Given the description of an element on the screen output the (x, y) to click on. 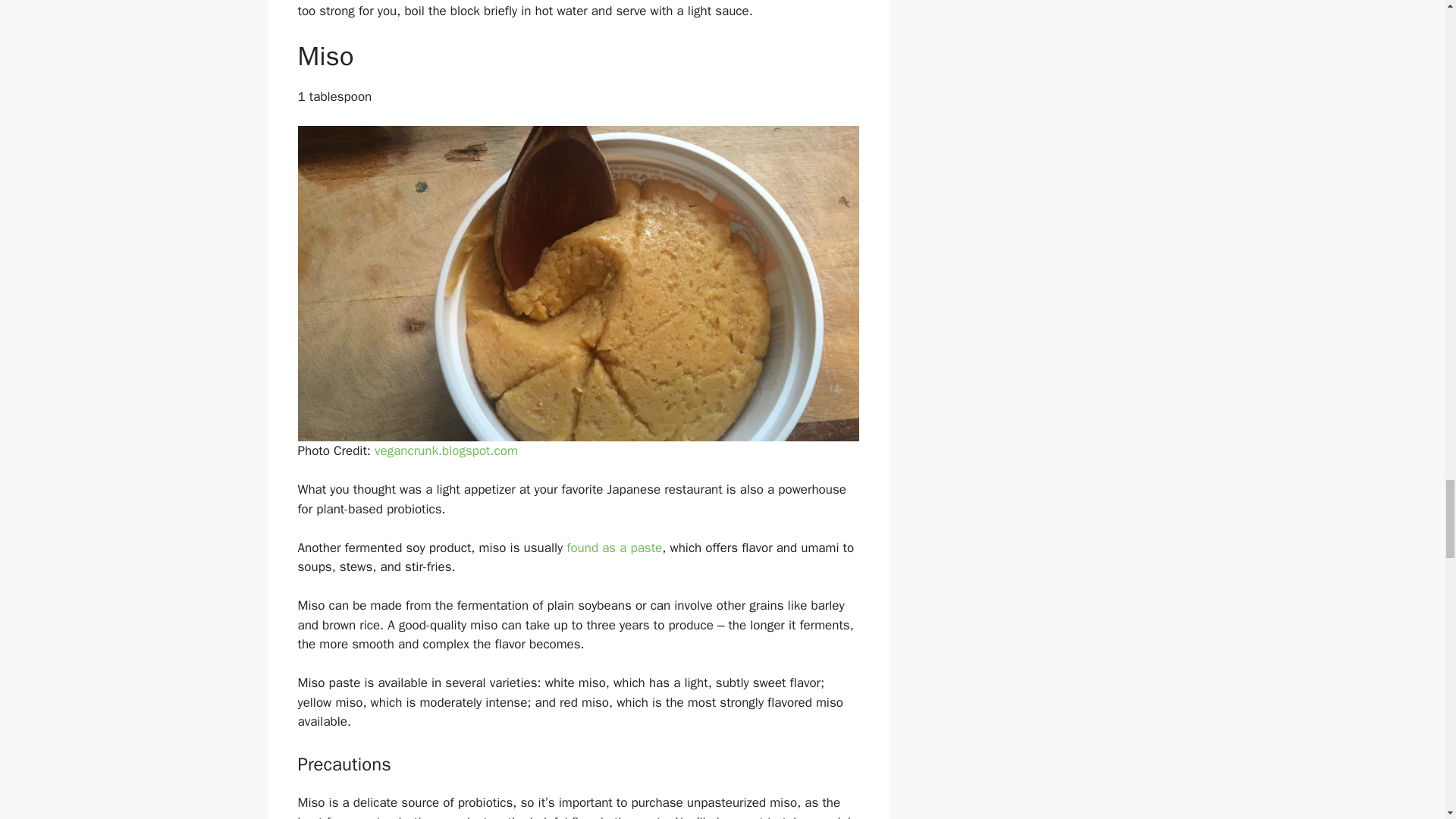
found as a paste (614, 547)
vegancrunk.blogspot.com (446, 450)
